Given the description of an element on the screen output the (x, y) to click on. 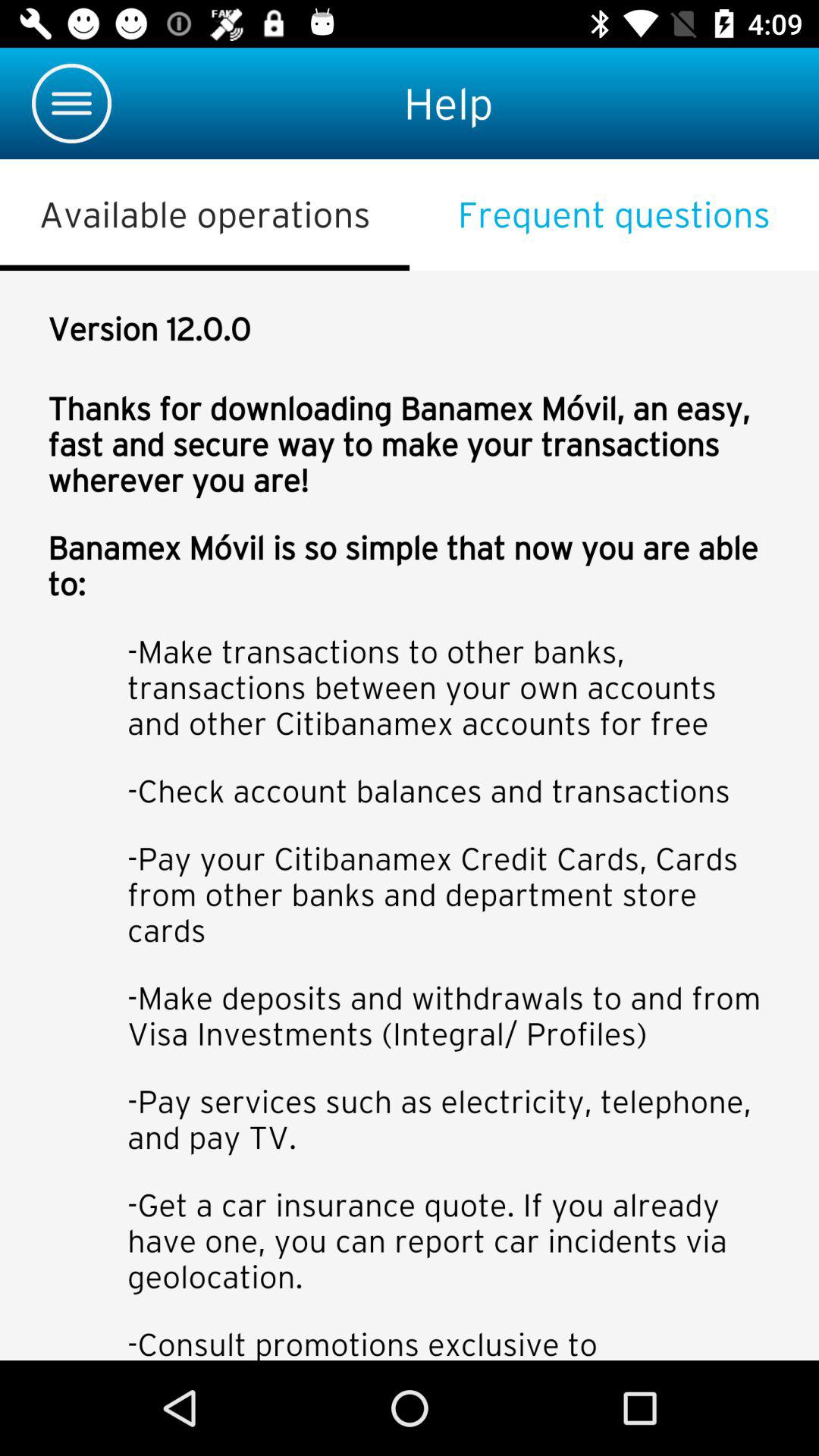
full page (409, 815)
